Given the description of an element on the screen output the (x, y) to click on. 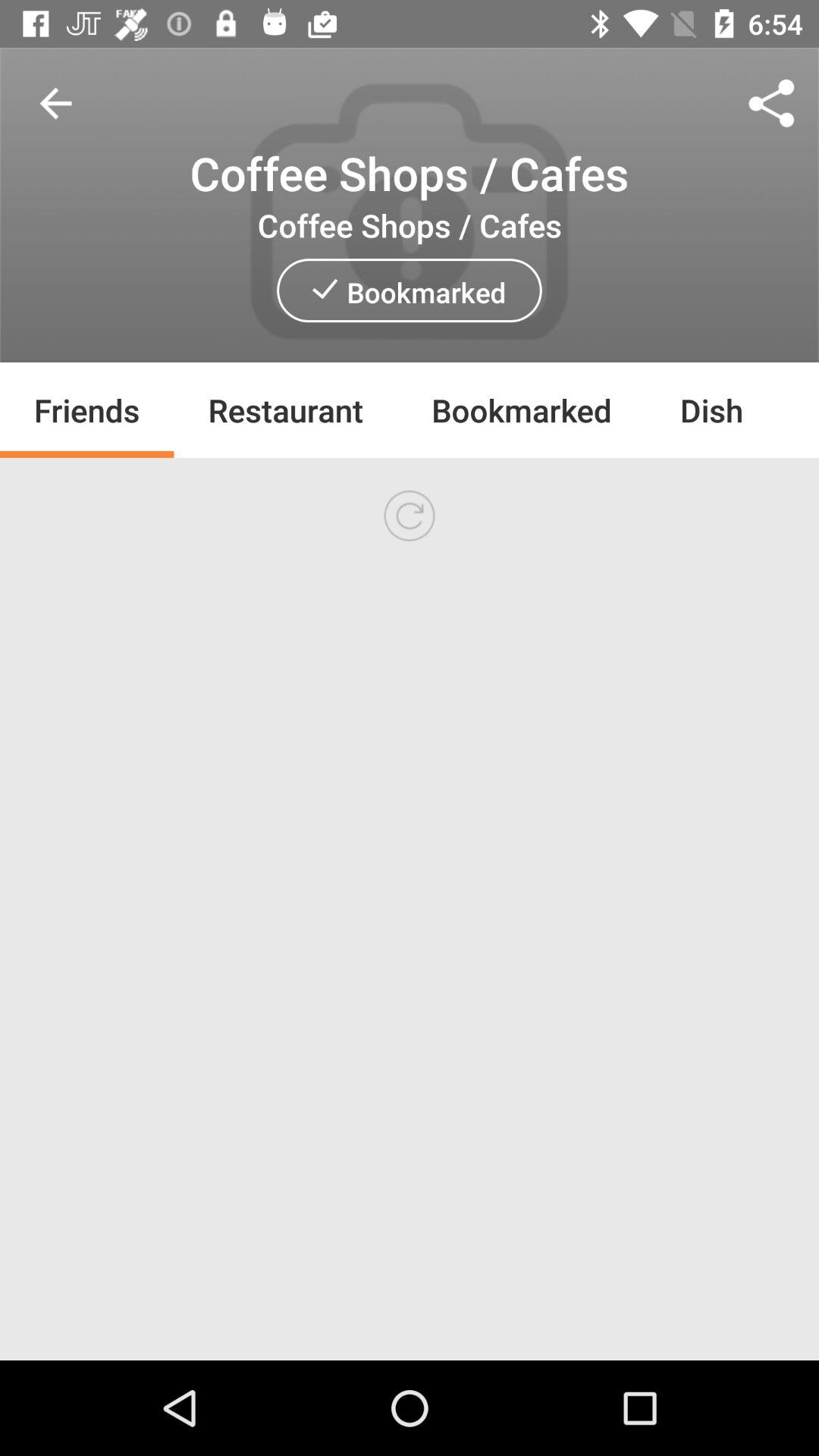
open item above the coffee shops / cafes (771, 103)
